Given the description of an element on the screen output the (x, y) to click on. 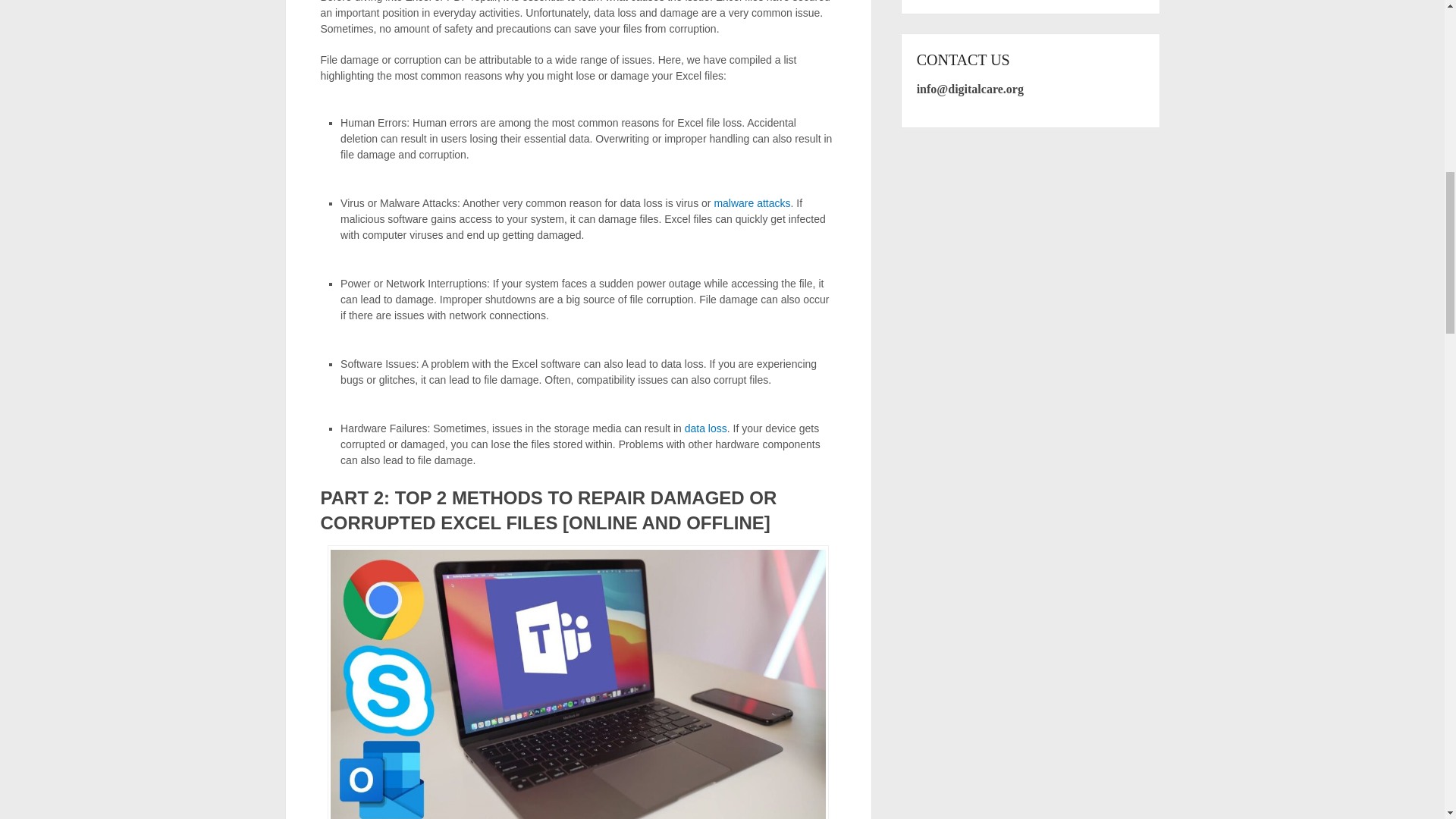
data loss (705, 428)
malware attacks (751, 203)
